Given the description of an element on the screen output the (x, y) to click on. 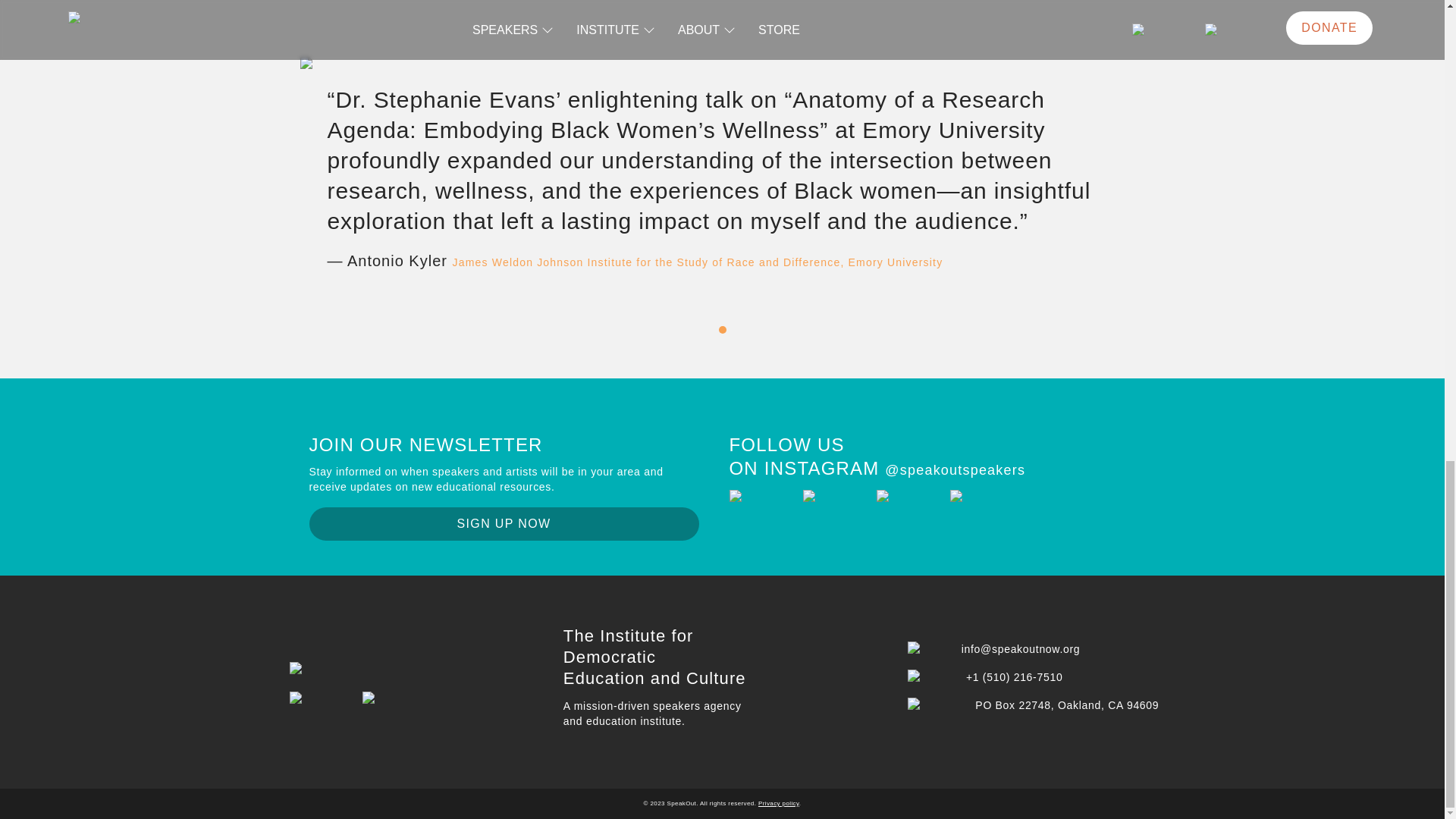
Privacy policy (778, 803)
SIGN UP NOW (503, 523)
